Given the description of an element on the screen output the (x, y) to click on. 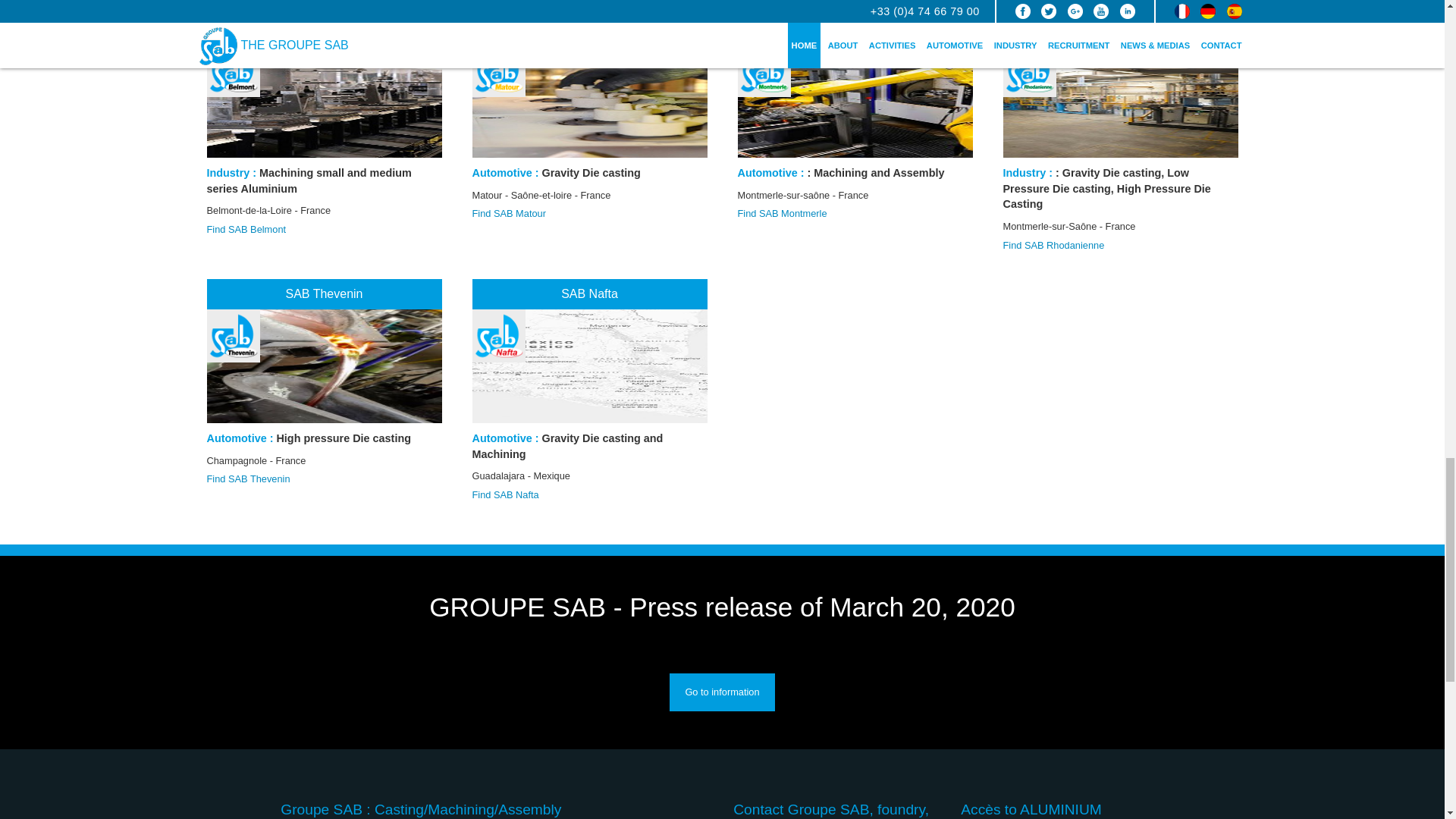
Find SAB Montmerle (854, 213)
Find SAB Rhodanienne (1120, 245)
Find SAB Matour (588, 213)
Find SAB Thevenin (323, 478)
Go to information (721, 692)
Find SAB Belmont (323, 229)
Find SAB Nafta (588, 494)
